Given the description of an element on the screen output the (x, y) to click on. 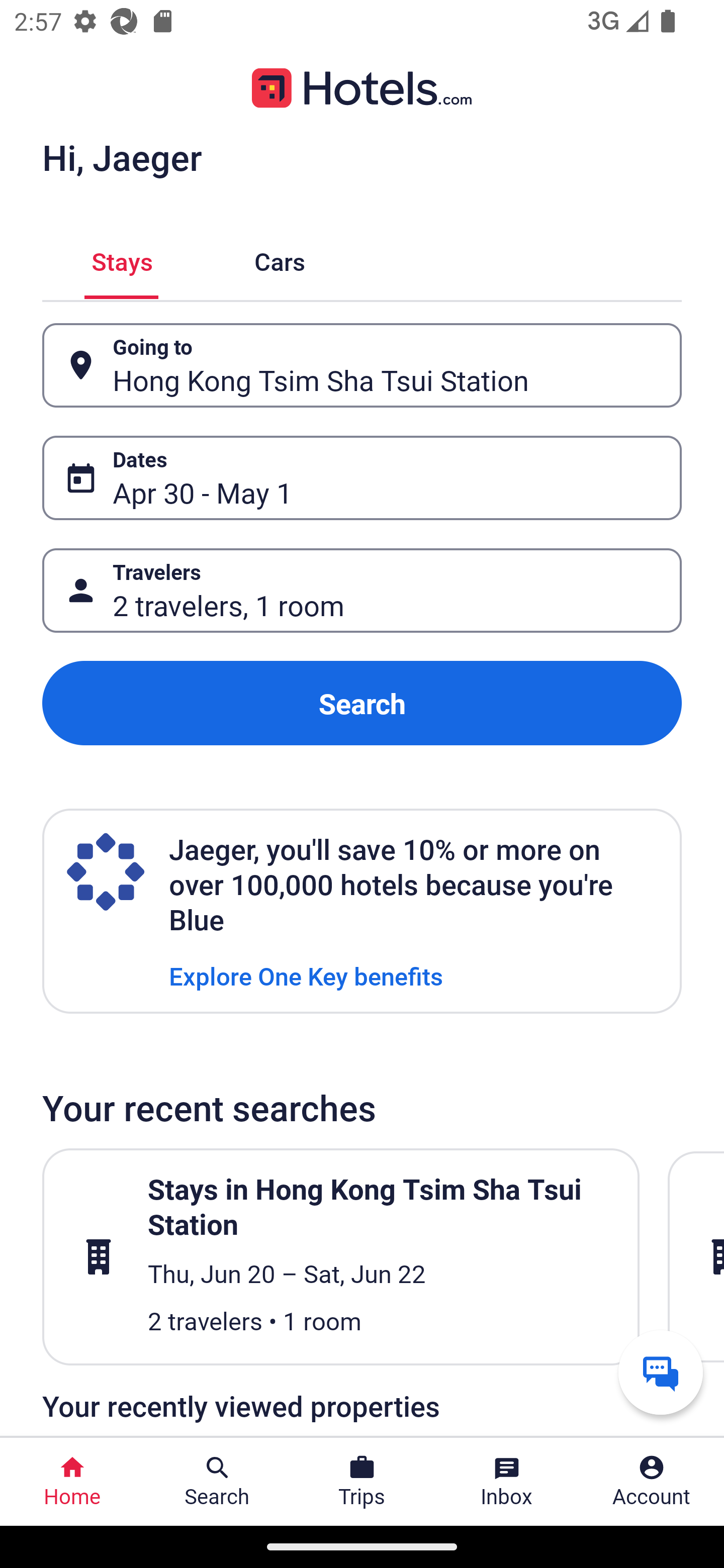
Hi, Jaeger (121, 156)
Cars (279, 259)
Going to Button Hong Kong Tsim Sha Tsui Station (361, 365)
Dates Button Apr 30 - May 1 (361, 477)
Travelers Button 2 travelers, 1 room (361, 590)
Search (361, 702)
Get help from a virtual agent (660, 1371)
Search Search Button (216, 1481)
Trips Trips Button (361, 1481)
Inbox Inbox Button (506, 1481)
Account Profile. Button (651, 1481)
